Given the description of an element on the screen output the (x, y) to click on. 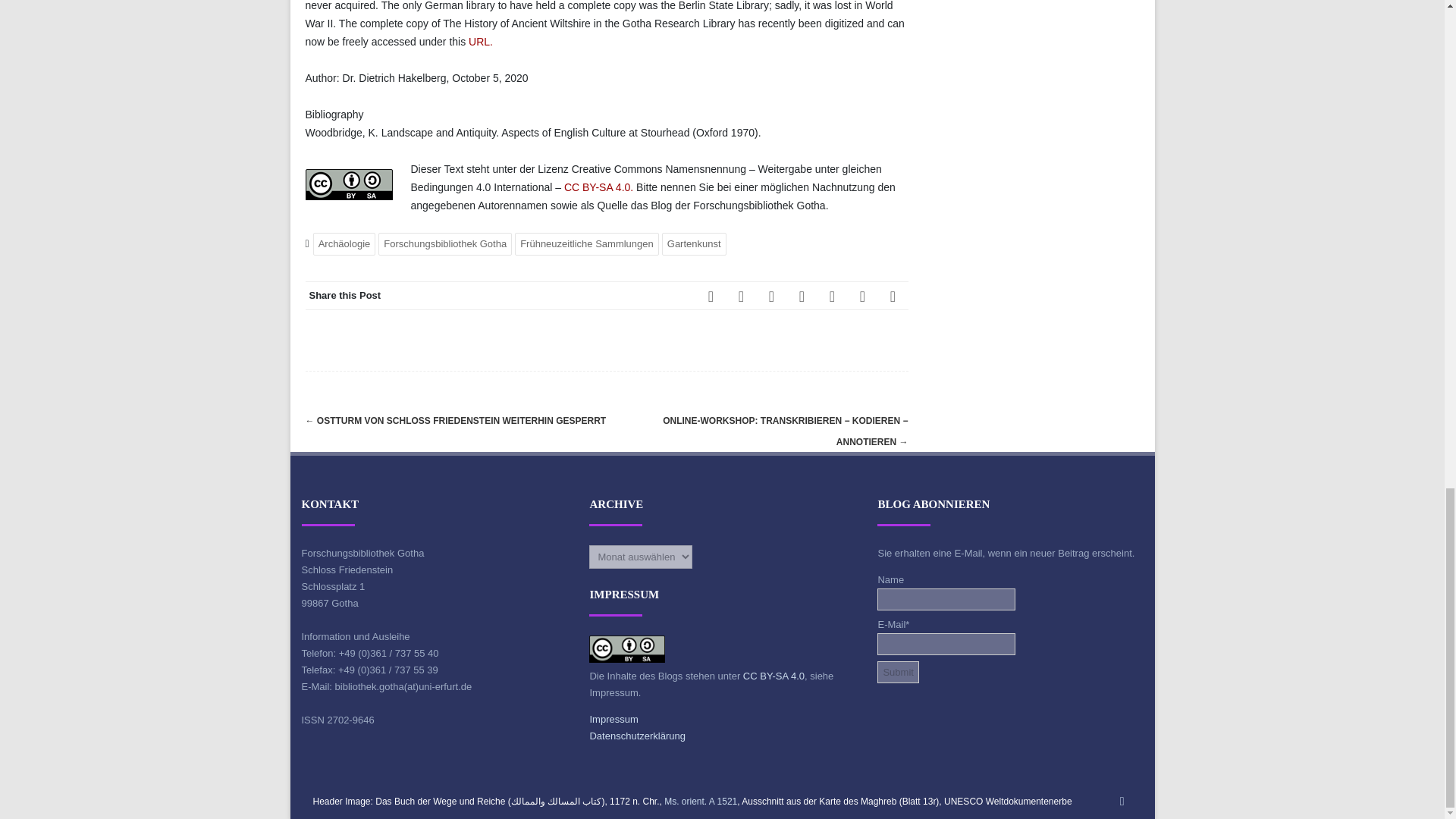
Email (892, 295)
Pinterest (772, 295)
Facebook (710, 295)
Instagram (862, 295)
CC BY-SA 4.0 (597, 186)
Submit (897, 671)
URL. (480, 41)
Forschungsbibliothek Gotha (445, 243)
RSS (831, 295)
Gartenkunst (694, 243)
LinkedIn (801, 295)
Twitter (741, 295)
RSS (1122, 800)
